Given the description of an element on the screen output the (x, y) to click on. 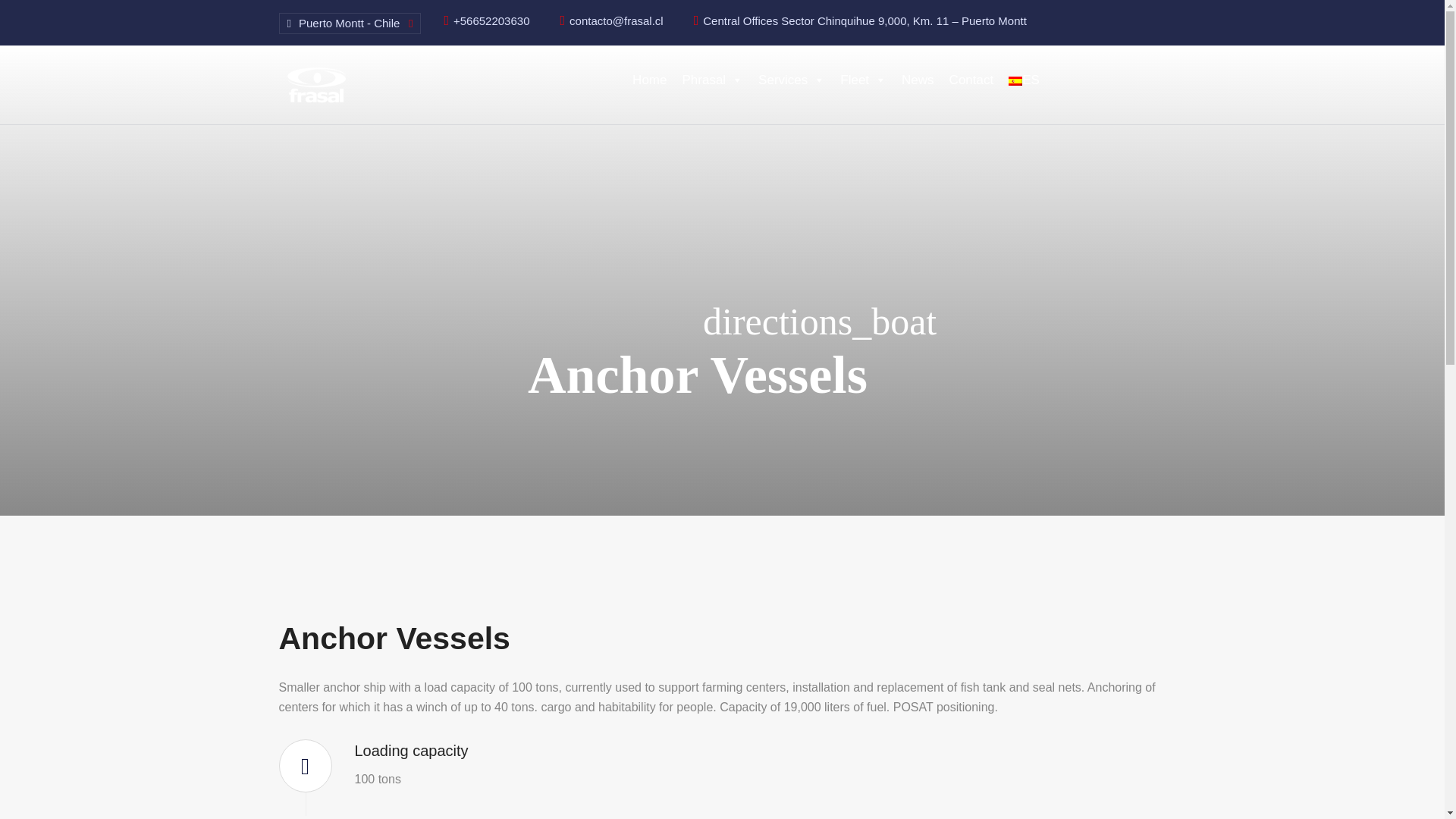
Fleet (862, 80)
Services (791, 80)
Contact (971, 80)
Puerto Montt - Chile (355, 22)
Spanish (1015, 80)
Phrasal (712, 80)
ES (1023, 80)
Home (649, 80)
News (917, 80)
